Given the description of an element on the screen output the (x, y) to click on. 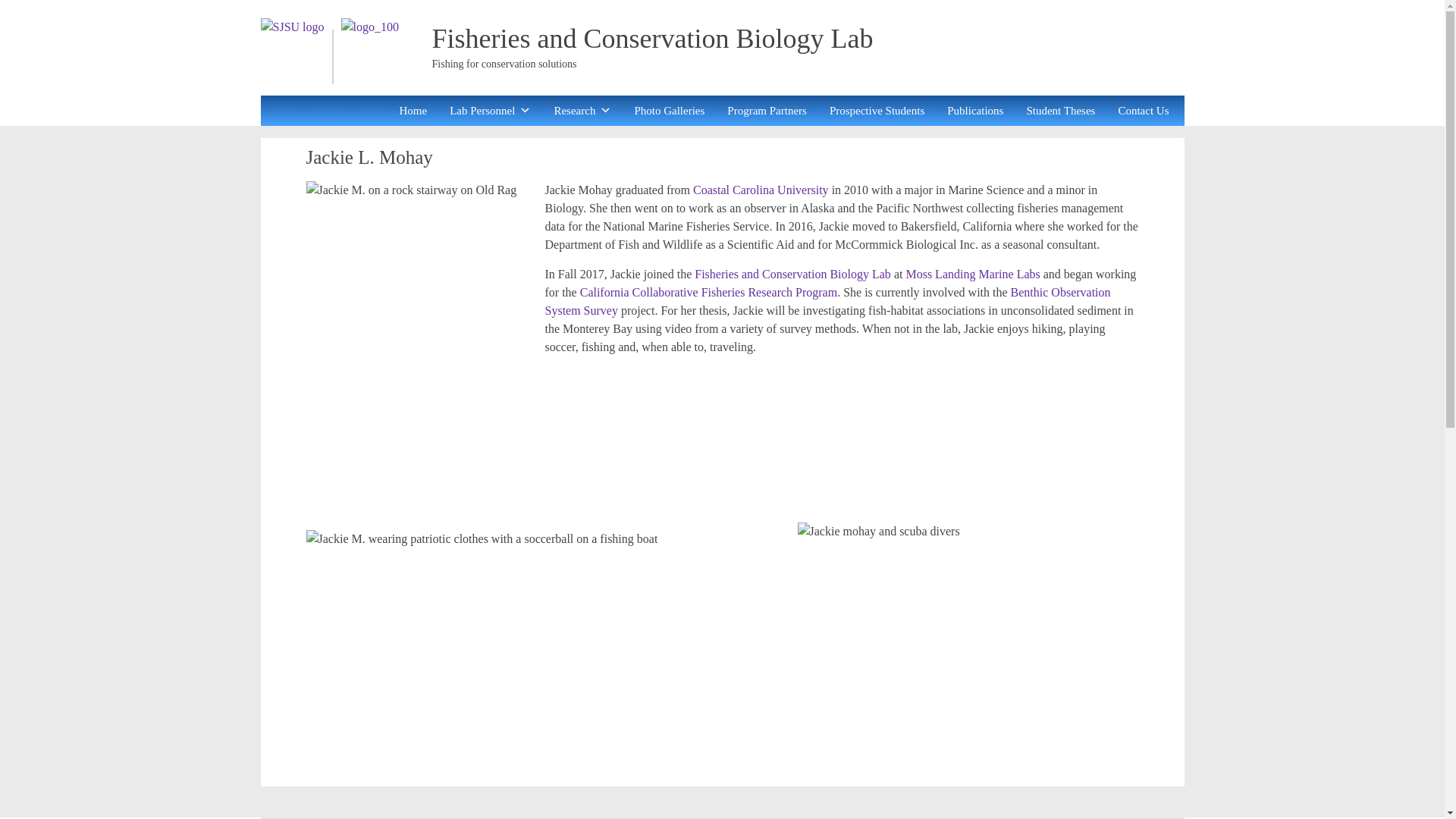
California Collaborative Fisheries Research Program (708, 291)
Moss Landing Marine Labs (972, 273)
Student Theses (1059, 110)
Fisheries and Conservation Biology Lab (652, 38)
Fisheries and Conservation Biology Lab (652, 38)
Fisheries and Conservation Biology Lab (792, 273)
Contact Us (1142, 110)
Coastal Carolina University (760, 189)
Publications (974, 110)
Program Partners (766, 110)
Research (582, 110)
Lab Personnel (490, 110)
Photo Galleries (668, 110)
Home (413, 110)
